Given the description of an element on the screen output the (x, y) to click on. 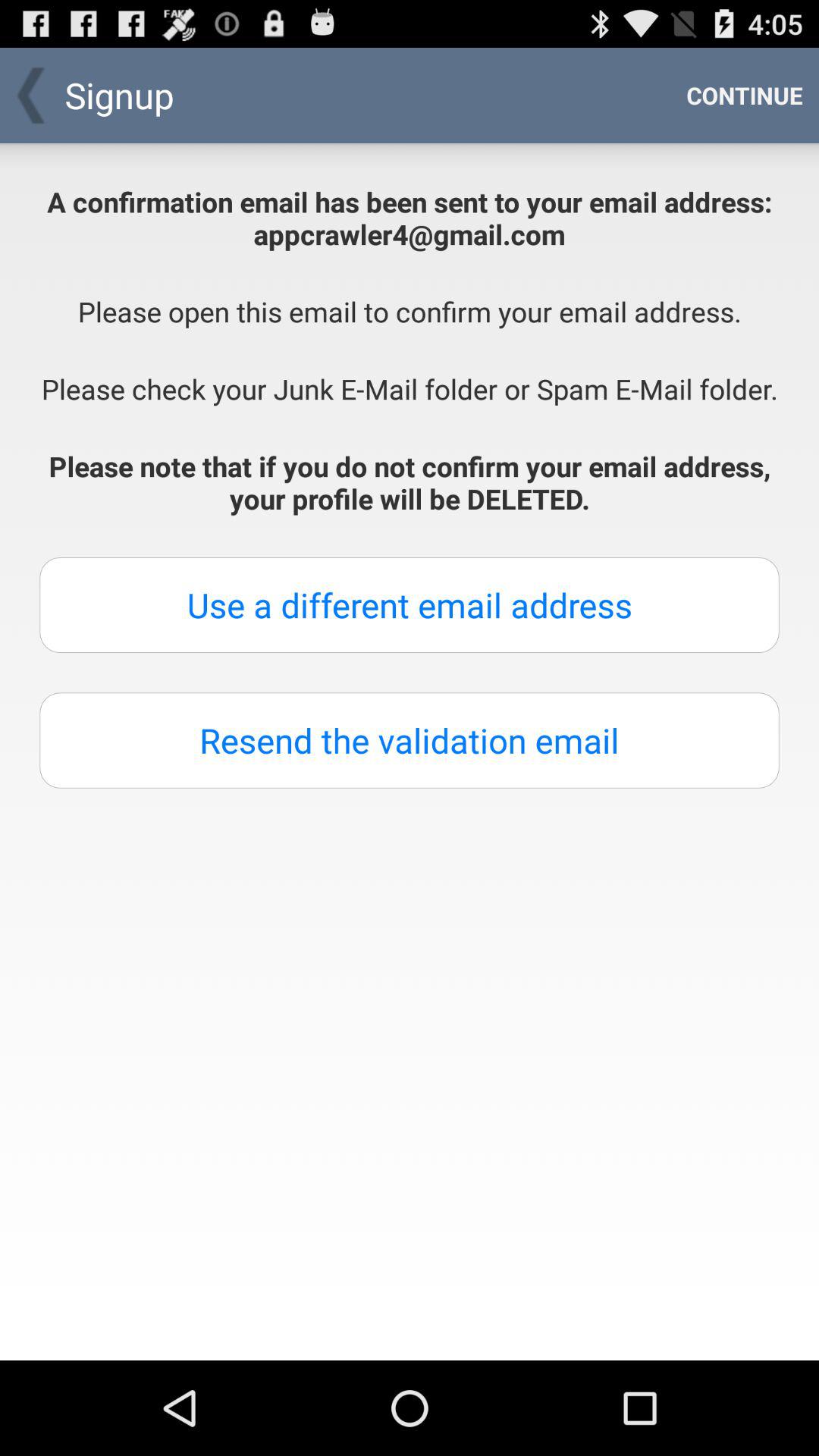
choose use a different button (409, 604)
